Given the description of an element on the screen output the (x, y) to click on. 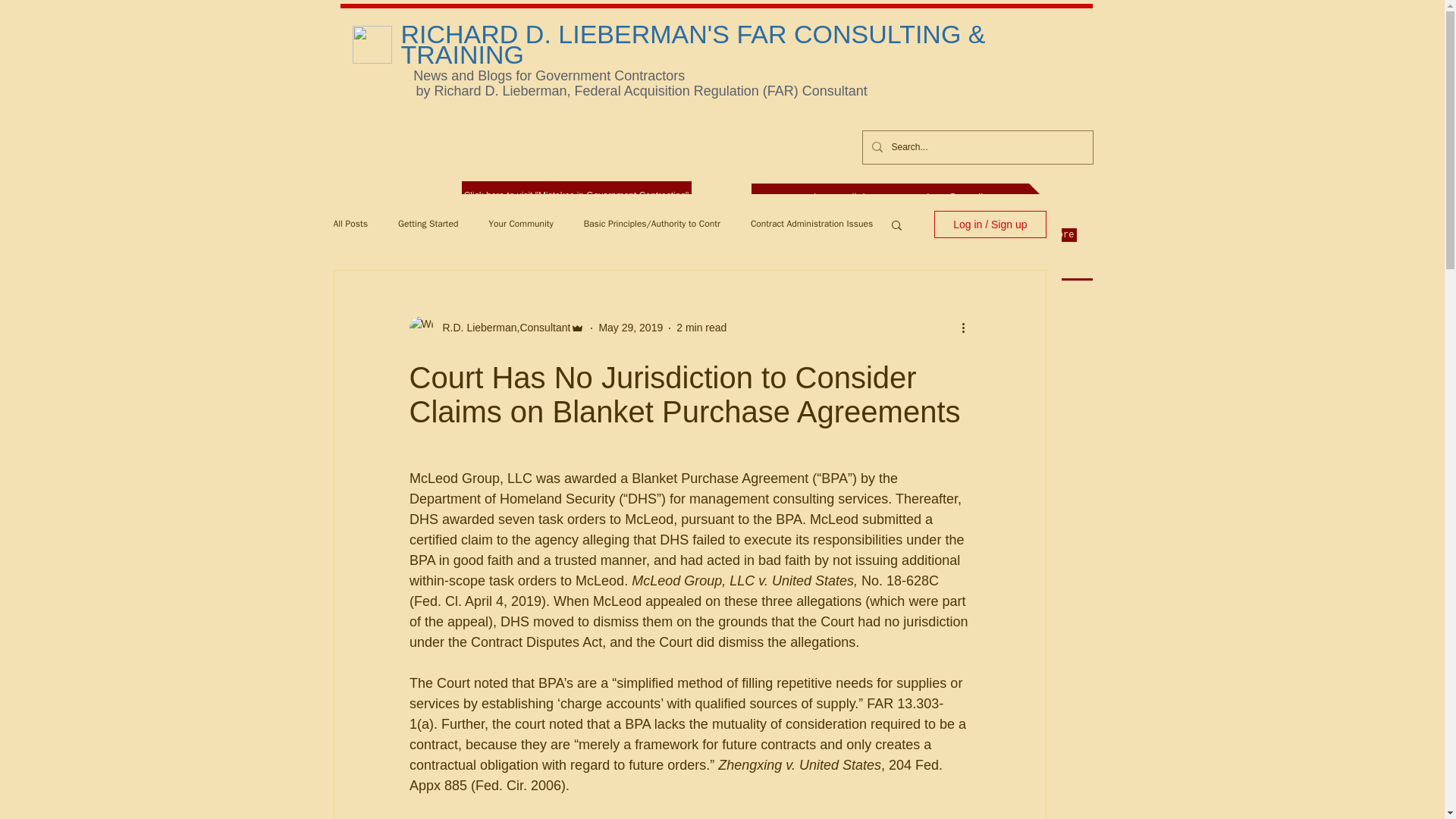
Books (801, 234)
Click here to visit "Mistakes in Government Contracting" (575, 195)
Contract Administration Issues (811, 223)
Consulting (698, 234)
May 29, 2019 (630, 327)
2 min read (701, 327)
Training (756, 234)
All Posts (350, 223)
Federal Acquisition Regulat. Consulting (475, 234)
Getting Started (427, 223)
Your Community (520, 223)
R.D. Lieberman,Consultant (501, 327)
